Given the description of an element on the screen output the (x, y) to click on. 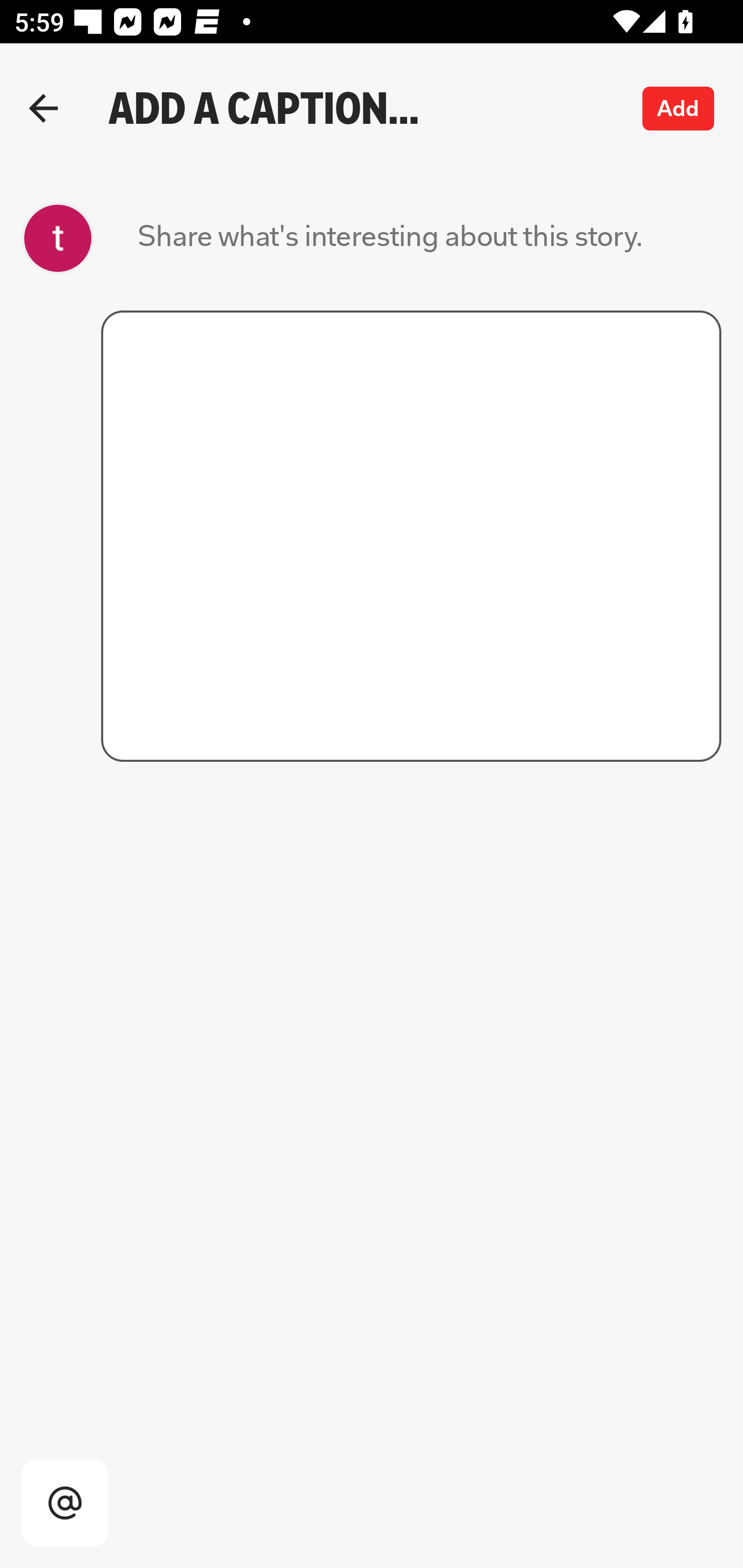
Add (678, 108)
Share what's interesting about this story. (390, 238)
